Given the description of an element on the screen output the (x, y) to click on. 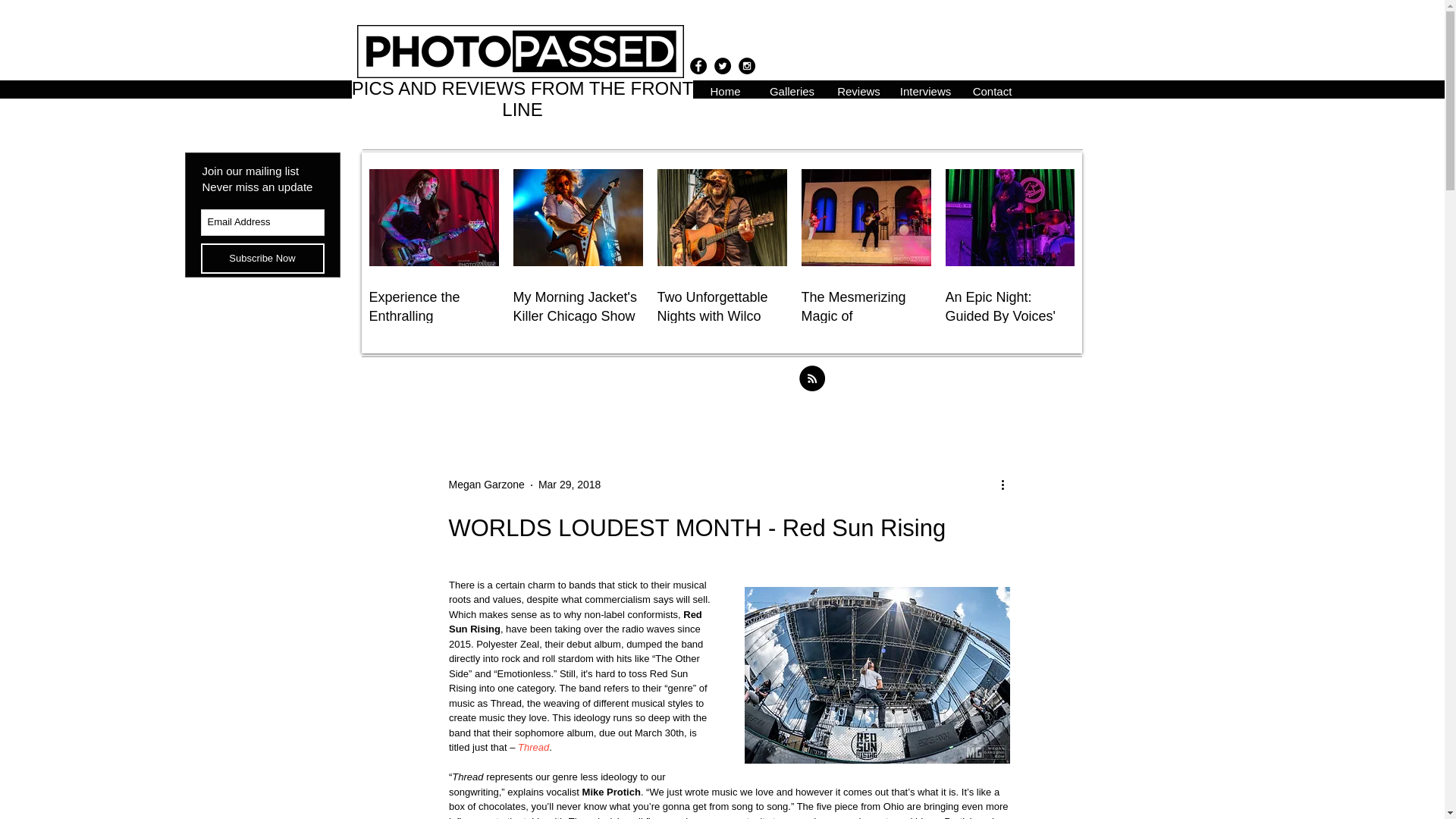
Interviews (924, 89)
Home (724, 89)
Subscribe Now (261, 258)
Reviews (858, 89)
Megan Garzone (486, 484)
Mar 29, 2018 (569, 484)
Galleries (791, 89)
Thread (533, 747)
